Given the description of an element on the screen output the (x, y) to click on. 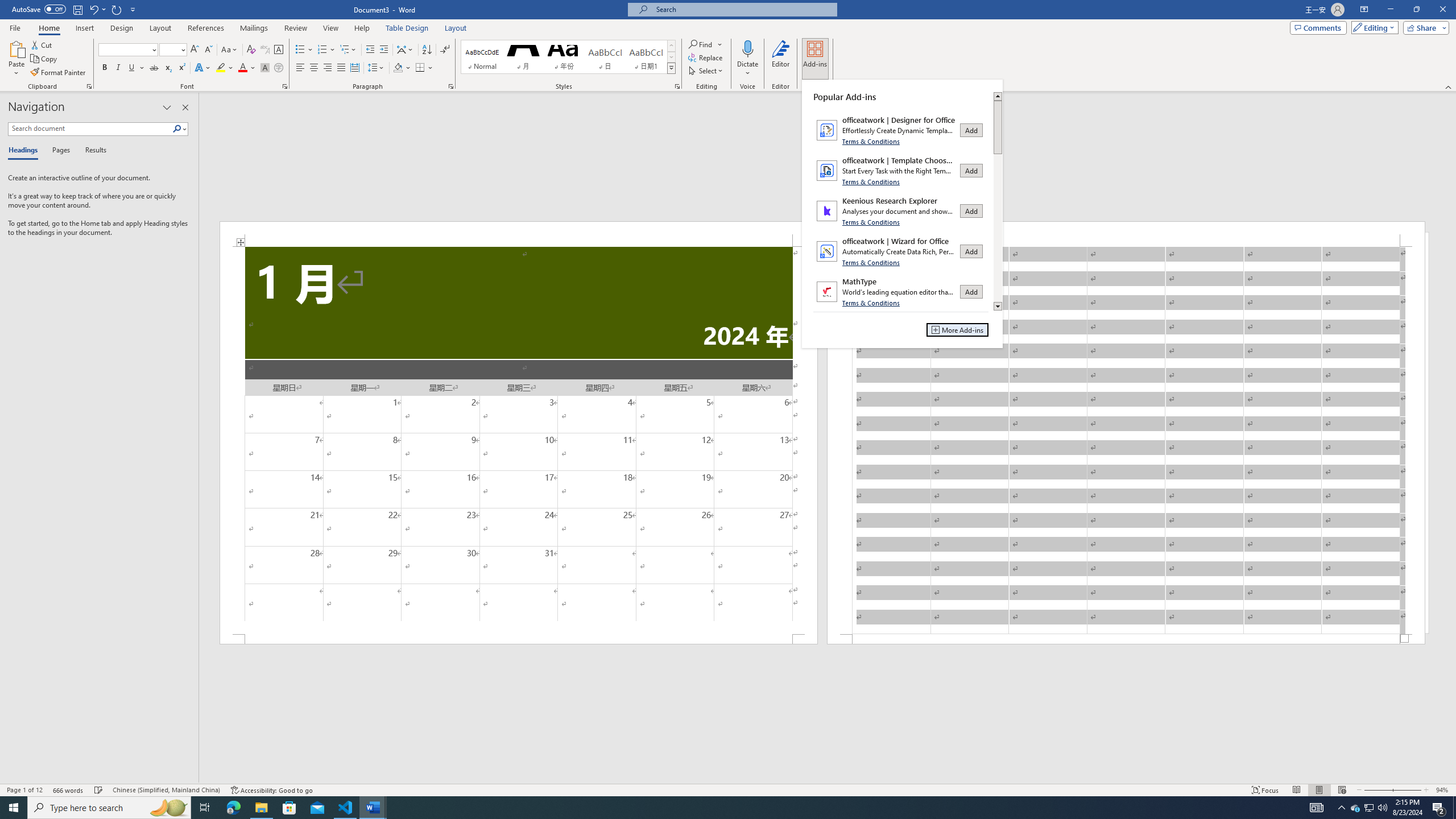
Microsoft Edge (233, 807)
Font Color RGB(255, 0, 0) (241, 67)
Add (970, 291)
Undo Grow Font (92, 9)
File Explorer - 1 running window (261, 807)
